Given the description of an element on the screen output the (x, y) to click on. 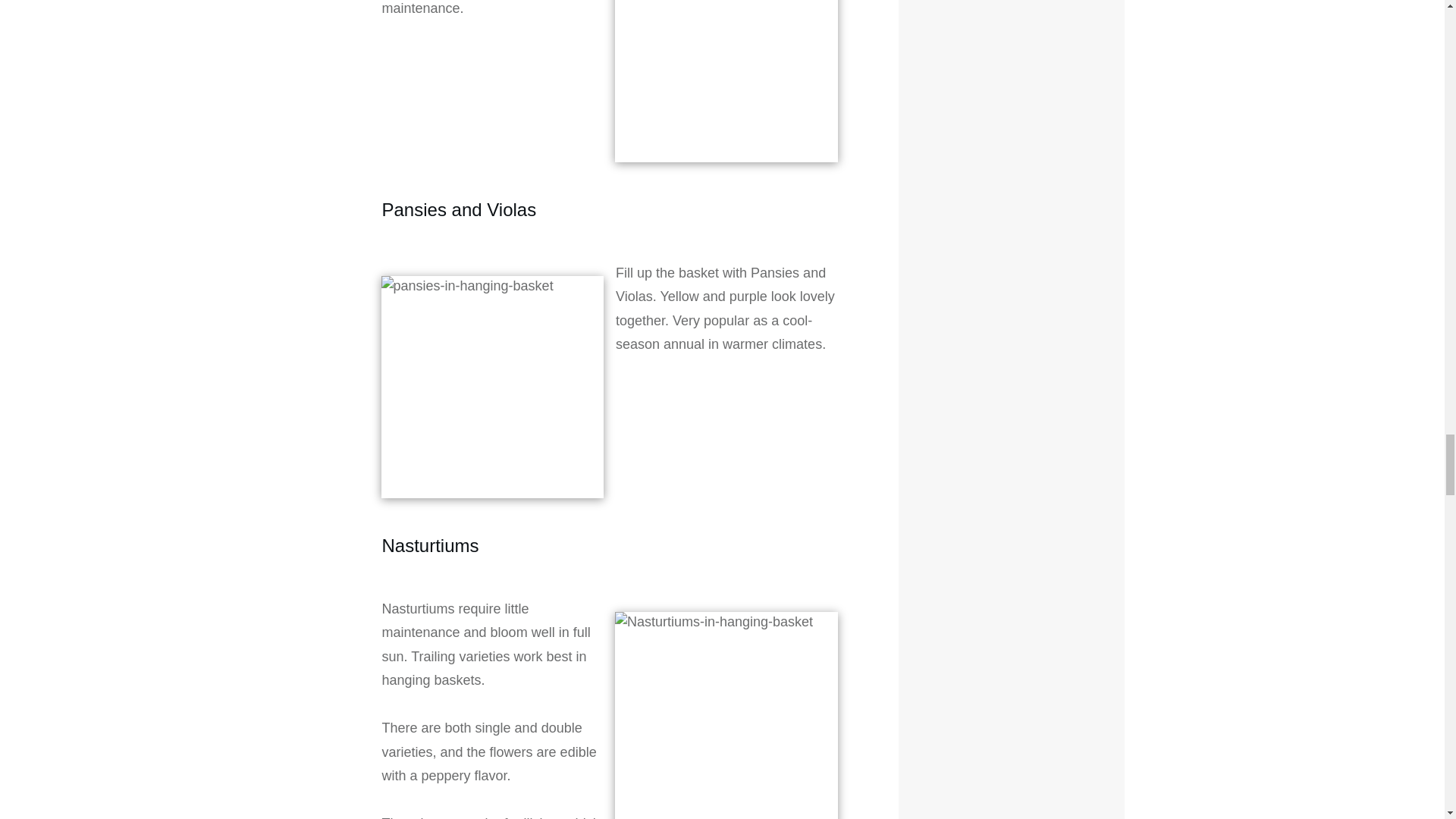
Black-Eyed-Susan (726, 81)
Nasturtiums-in-hanging-basket (726, 715)
pansies-in-hanging-basket (492, 387)
